Given the description of an element on the screen output the (x, y) to click on. 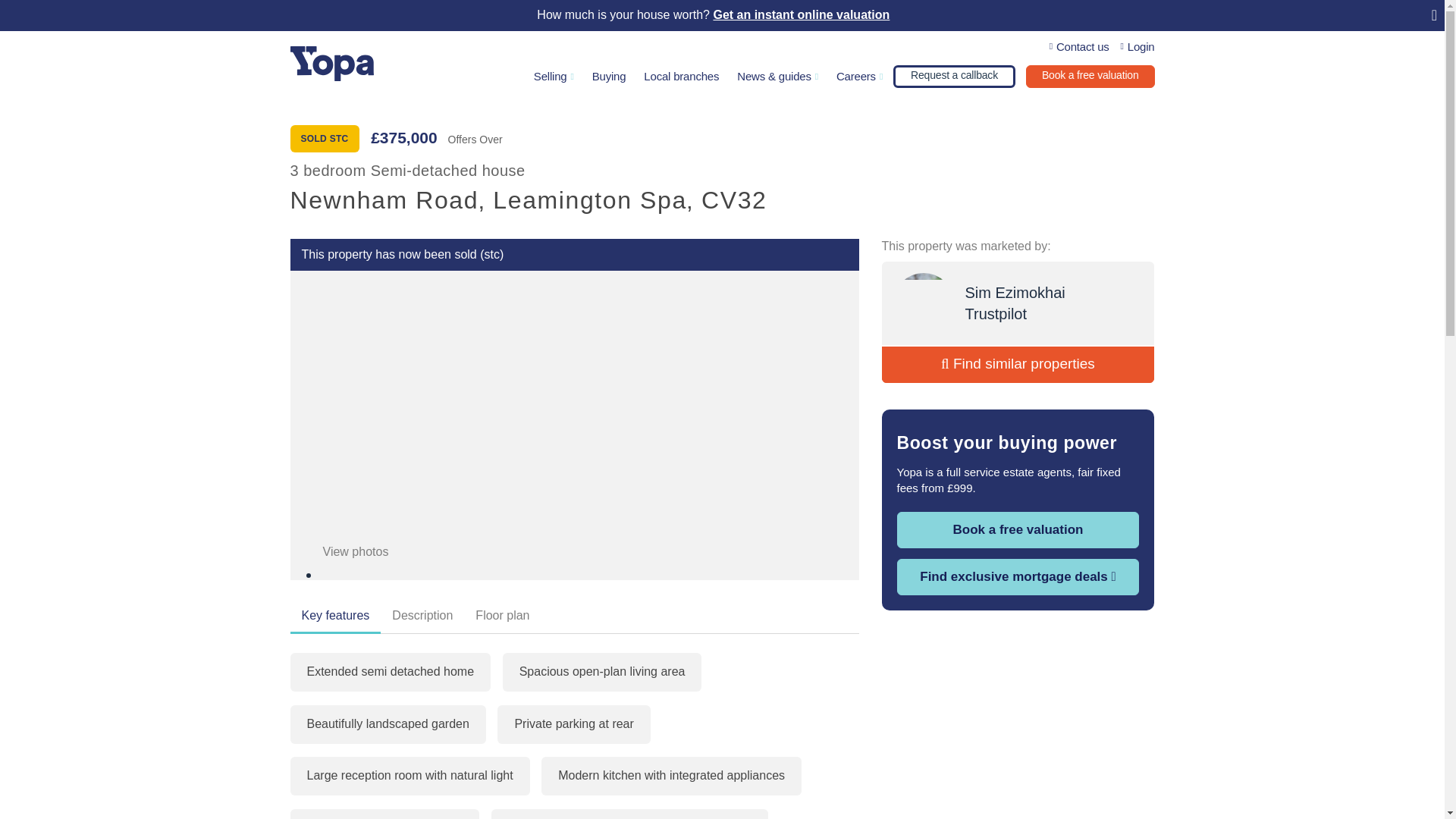
Buying (609, 78)
Extended semi detached home (389, 671)
Book a free valuation (1090, 76)
Request a callback (953, 76)
Well-appointed bathroom with walk-in shower (630, 814)
Three comfortable bedrooms (384, 814)
Get an instant online valuation (801, 15)
Modern kitchen with integrated appliances (671, 775)
Selling (553, 78)
Large reception room with natural light (409, 775)
Spacious open-plan living area (601, 671)
Local branches (681, 78)
Private parking at rear (573, 724)
Contact us (1079, 47)
Careers (858, 78)
